Given the description of an element on the screen output the (x, y) to click on. 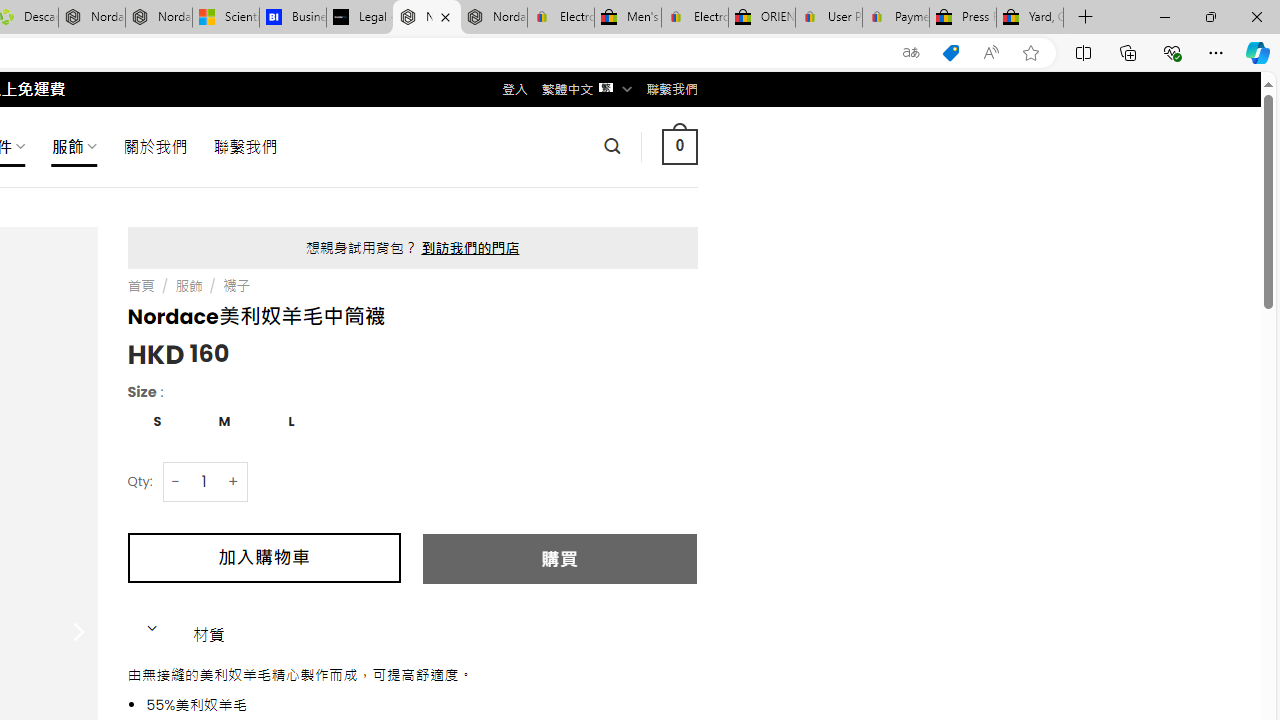
  0   (679, 146)
